Given the description of an element on the screen output the (x, y) to click on. 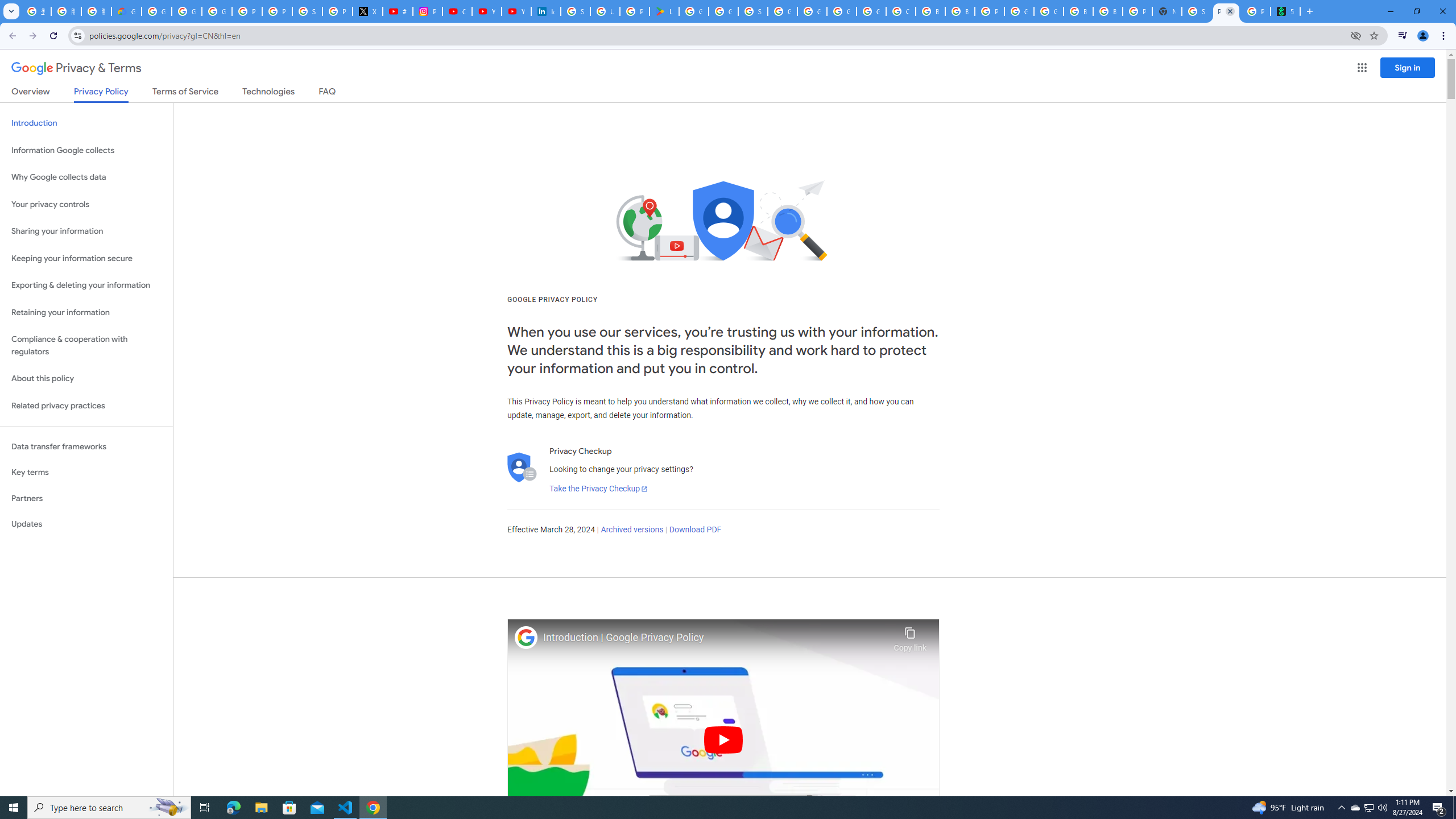
New Tab (1166, 11)
Sign in - Google Accounts (753, 11)
Google Cloud Platform (841, 11)
Sign in - Google Accounts (575, 11)
Google Cloud Platform (1018, 11)
